Given the description of an element on the screen output the (x, y) to click on. 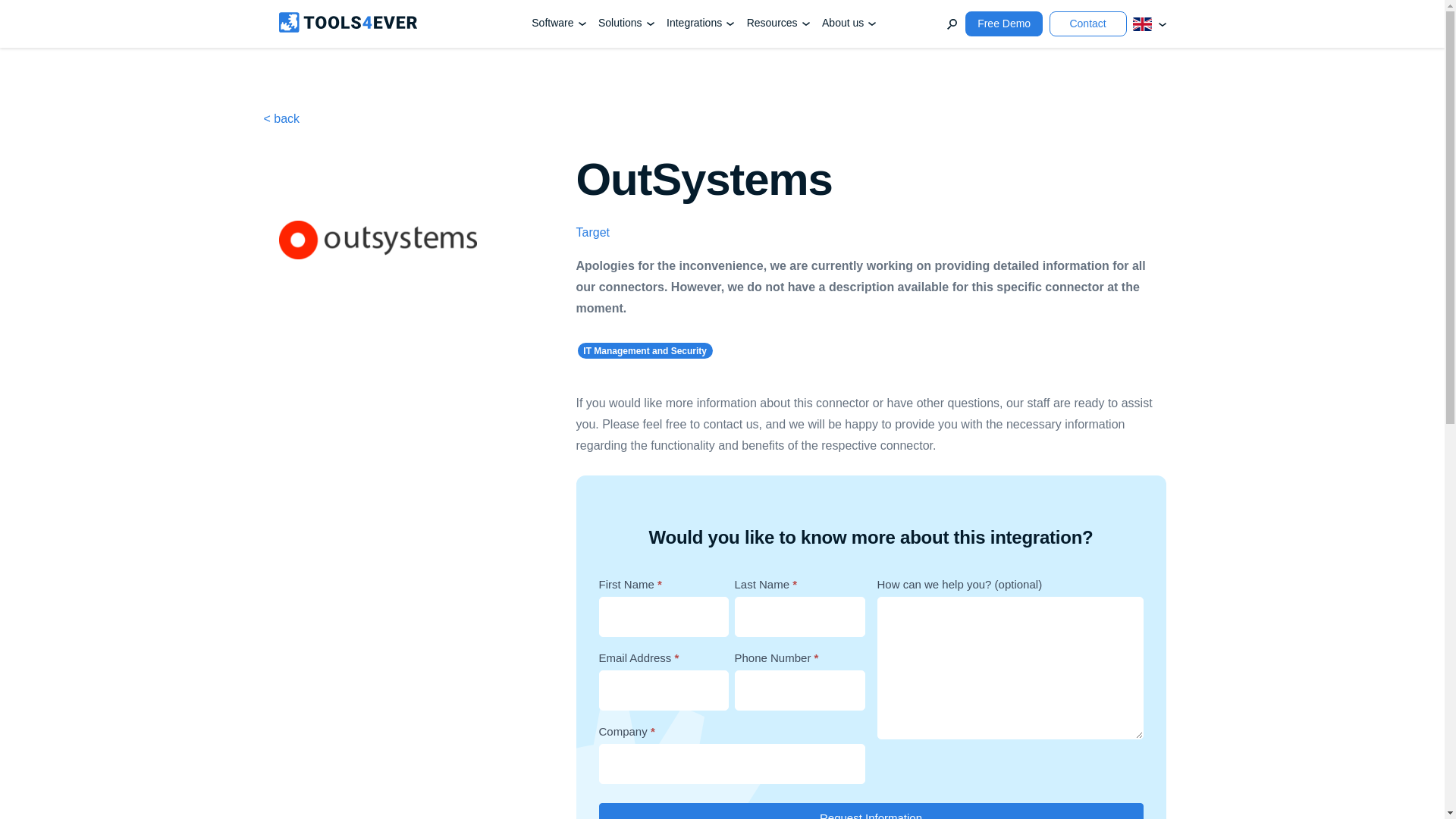
Software (558, 23)
Free Demo (1003, 23)
Toggle search (952, 23)
Contact (1087, 23)
